Given the description of an element on the screen output the (x, y) to click on. 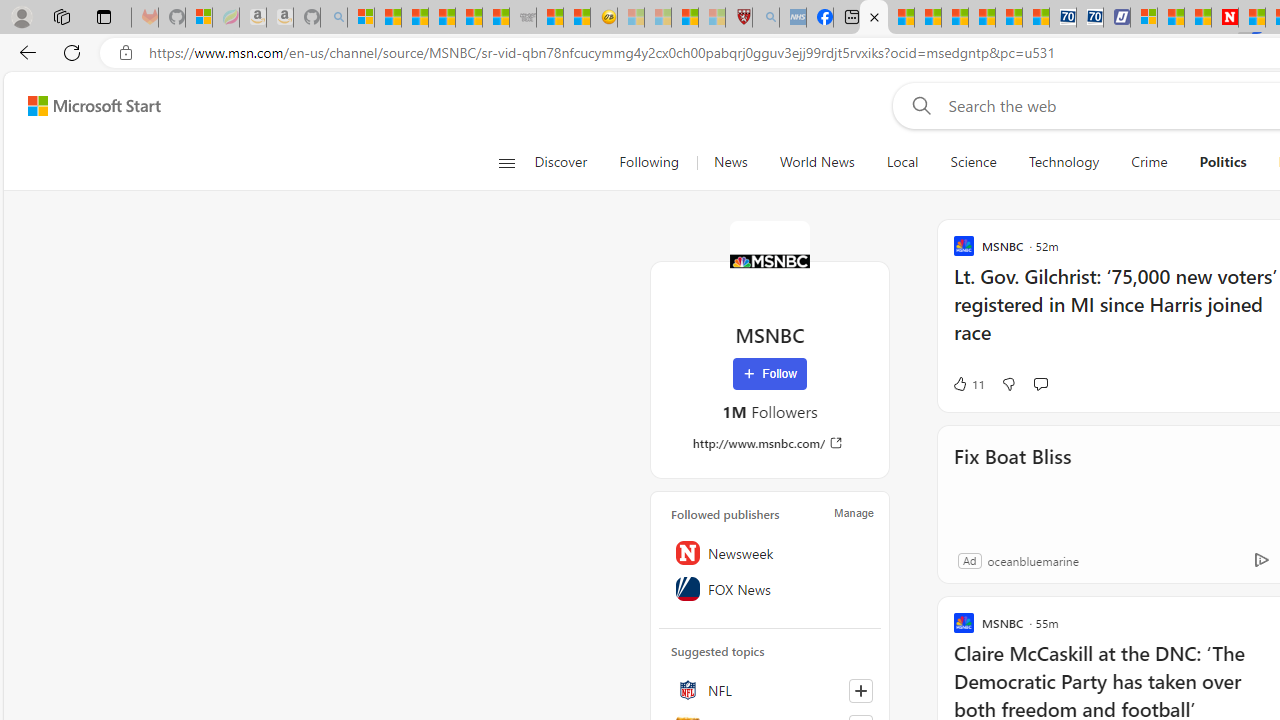
Newsweek (770, 552)
